Given the description of an element on the screen output the (x, y) to click on. 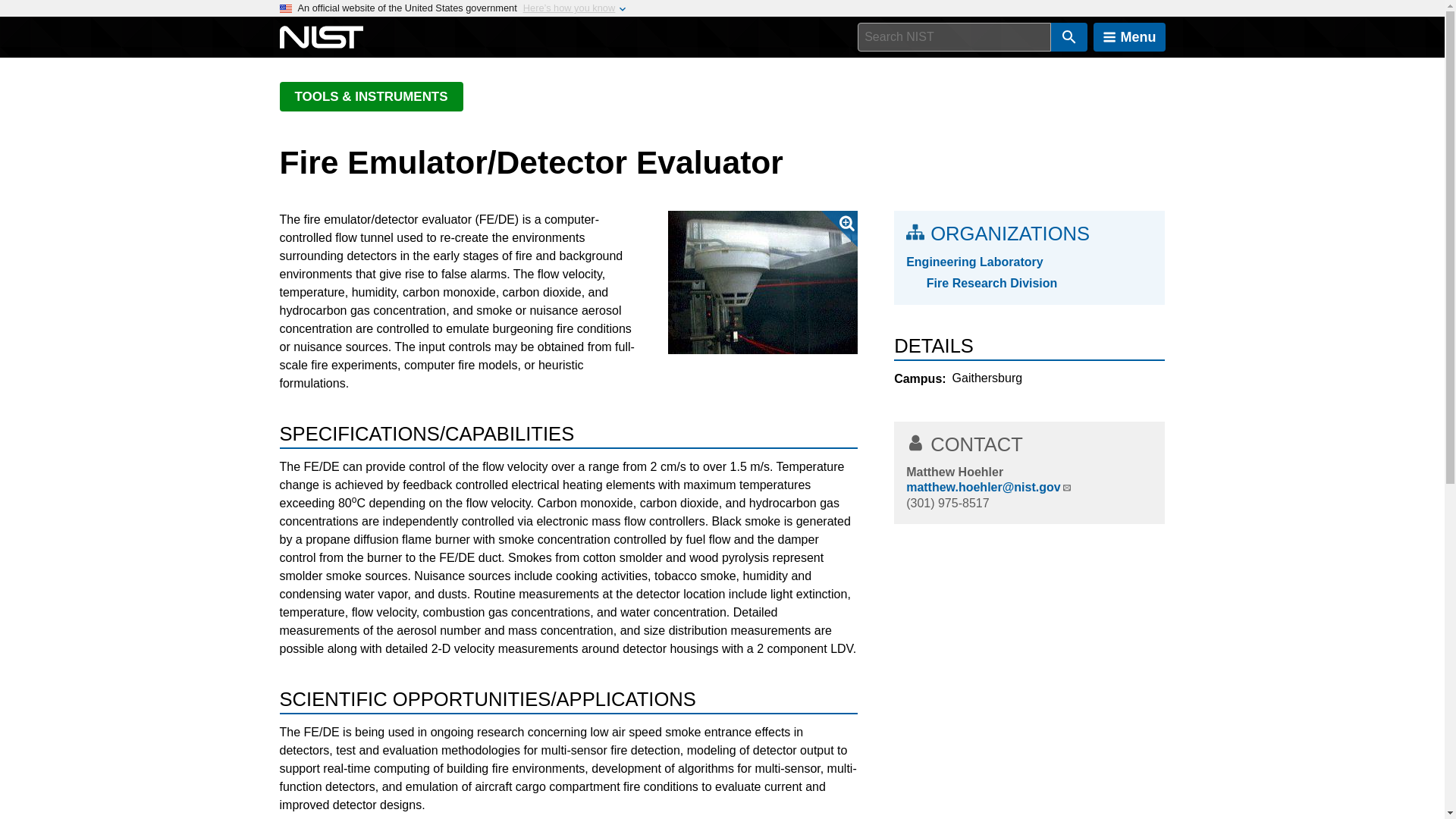
Engineering Laboratory (1029, 262)
Menu (1129, 36)
National Institute of Standards and Technology (320, 36)
View staff profile page (954, 472)
Fire Research Division (1039, 283)
Matthew Hoehler (954, 472)
